Given the description of an element on the screen output the (x, y) to click on. 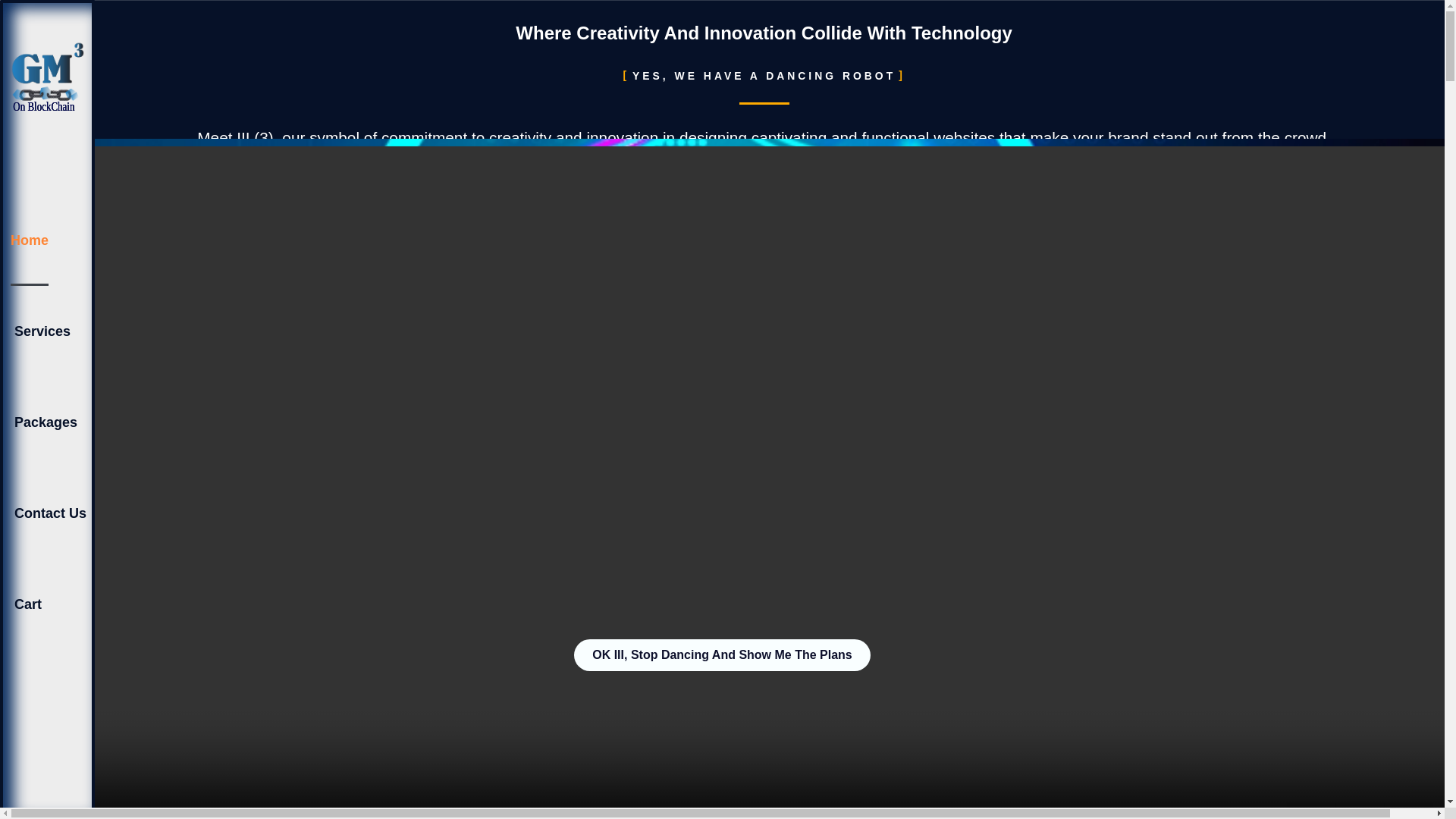
OK III, Stop Dancing And Show Me The Plans (721, 654)
